Given the description of an element on the screen output the (x, y) to click on. 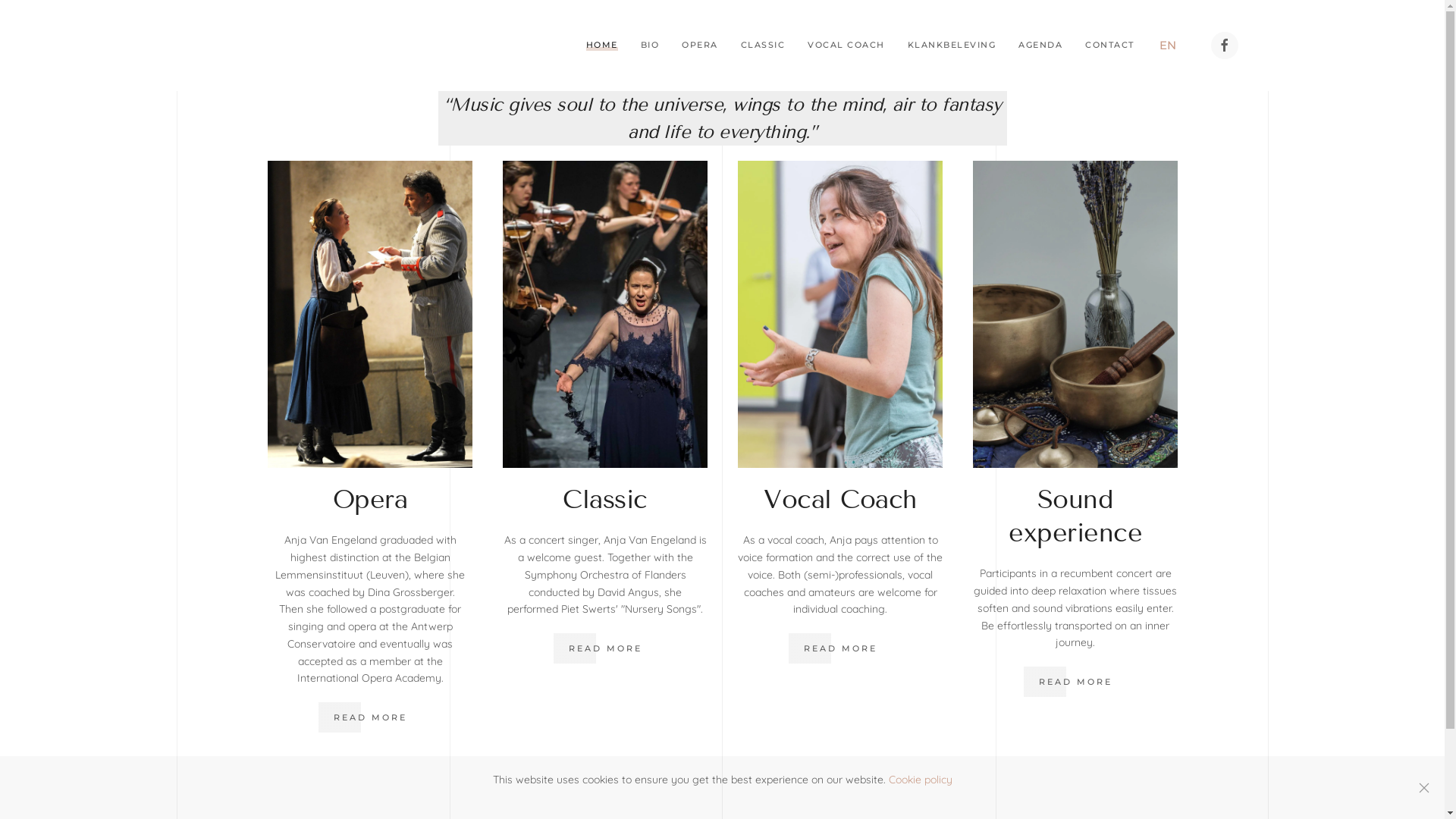
KLANKBELEVING Element type: text (950, 45)
READ MORE Element type: text (604, 648)
Vocal Coach Element type: text (839, 498)
Opera Element type: text (369, 498)
READ MORE Element type: text (369, 717)
Cookie policy Element type: text (920, 779)
EN Element type: text (1172, 44)
READ MORE Element type: text (839, 648)
CONTACT Element type: text (1109, 45)
OPERA Element type: text (699, 45)
VOCAL COACH Element type: text (845, 45)
BIO Element type: text (649, 45)
CLASSIC Element type: text (762, 45)
AGENDA Element type: text (1040, 45)
Sound experience Element type: text (1075, 515)
Classic Element type: text (604, 498)
HOME Element type: text (601, 45)
READ MORE Element type: text (1074, 681)
